Given the description of an element on the screen output the (x, y) to click on. 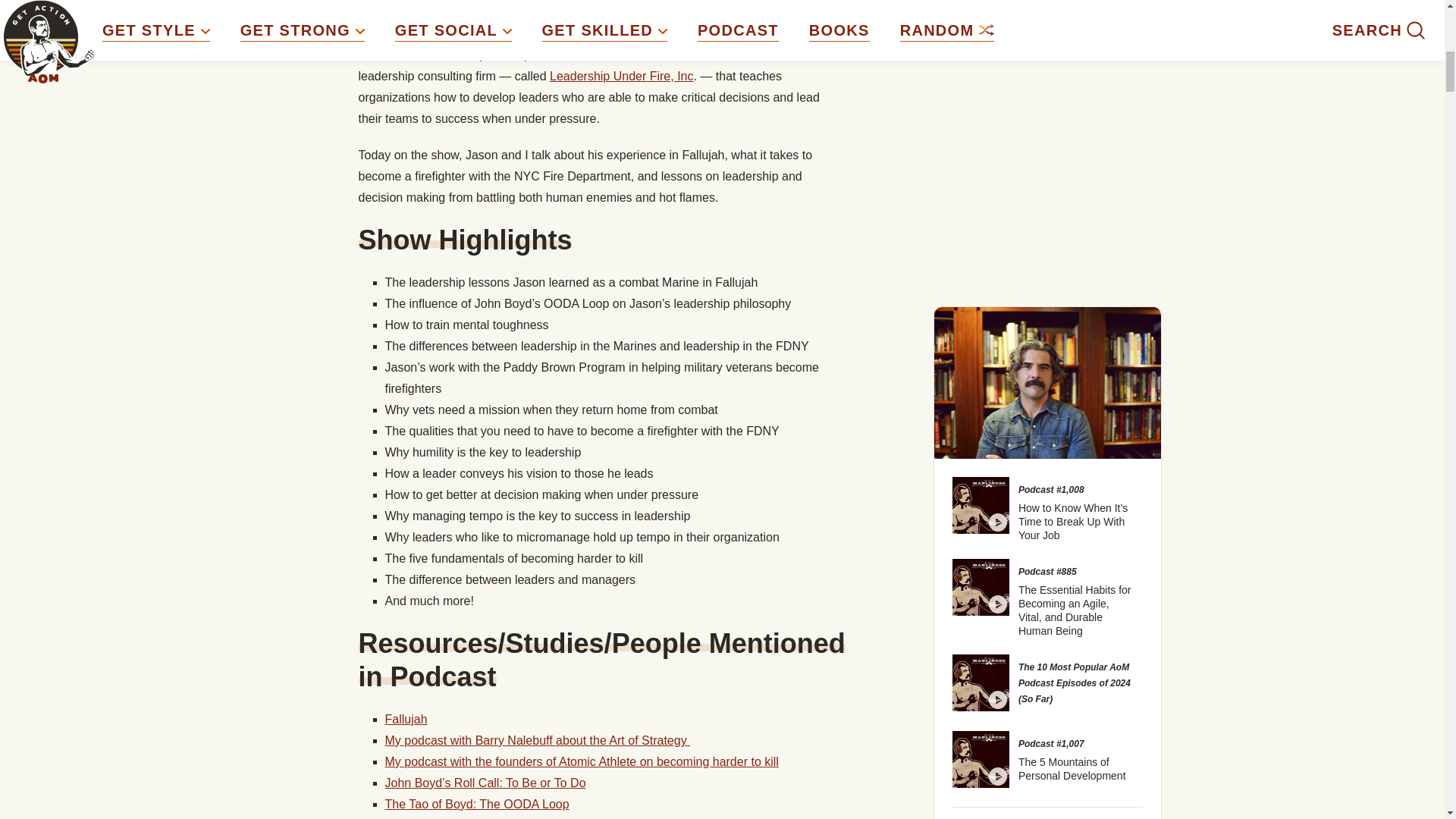
3rd party ad content (1047, 6)
